Given the description of an element on the screen output the (x, y) to click on. 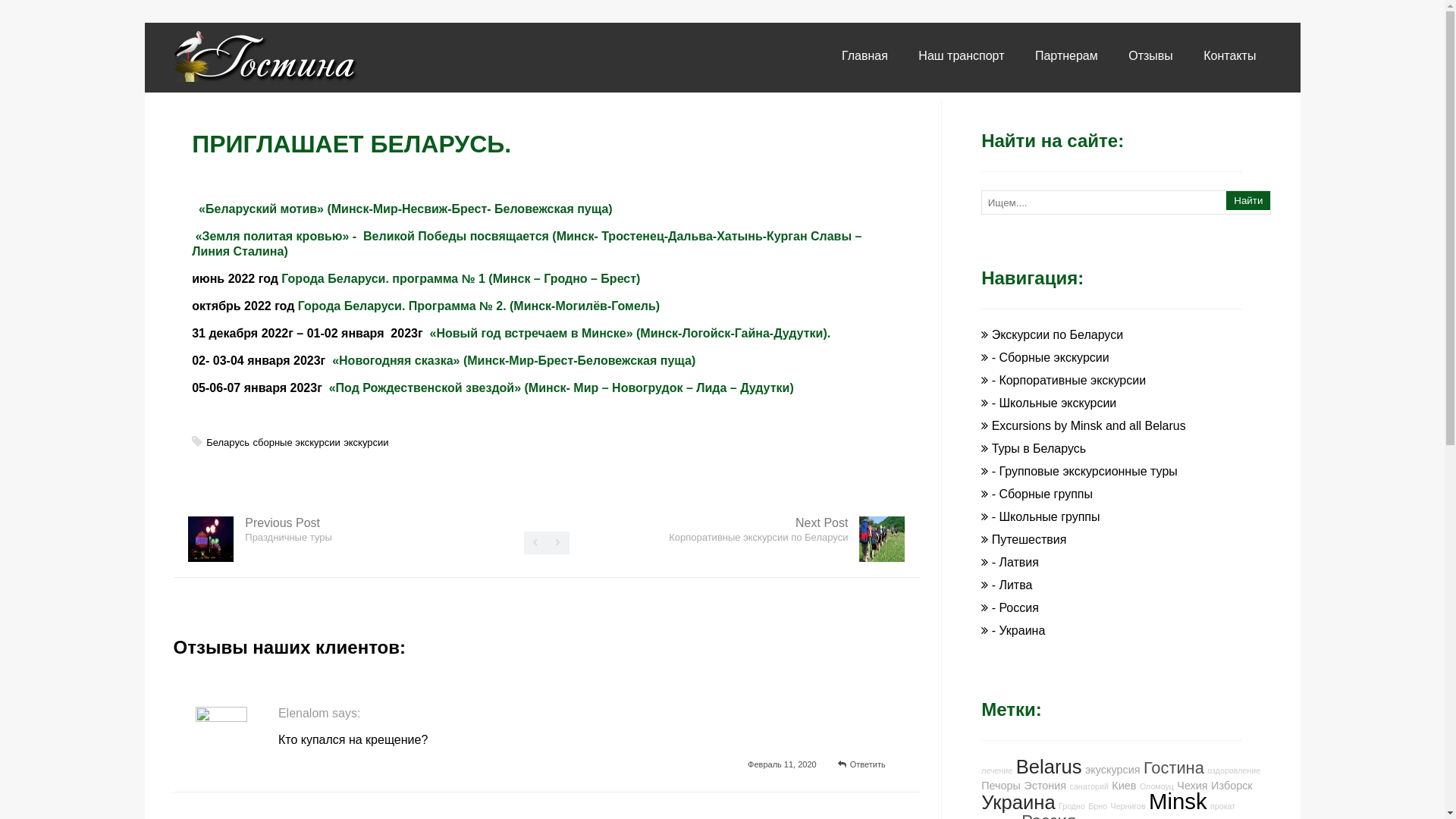
Excursions by Minsk and all Belarus Element type: text (1088, 425)
Belarus Element type: text (1049, 766)
Minsk Element type: text (1177, 800)
